Given the description of an element on the screen output the (x, y) to click on. 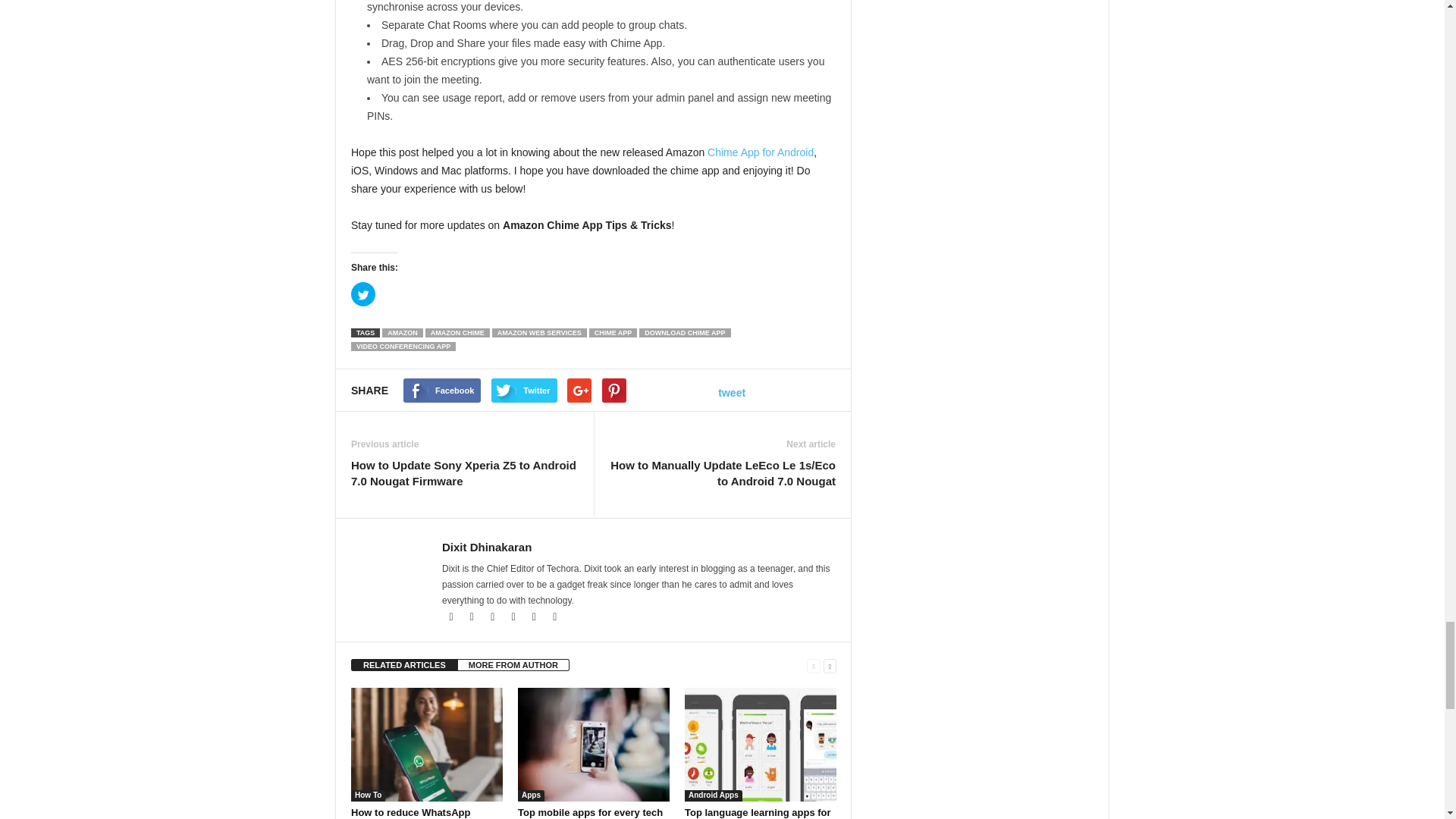
Twitter (534, 616)
Instagram (493, 616)
Click to share on Twitter (362, 293)
Facebook (452, 616)
Skype (513, 616)
